Given the description of an element on the screen output the (x, y) to click on. 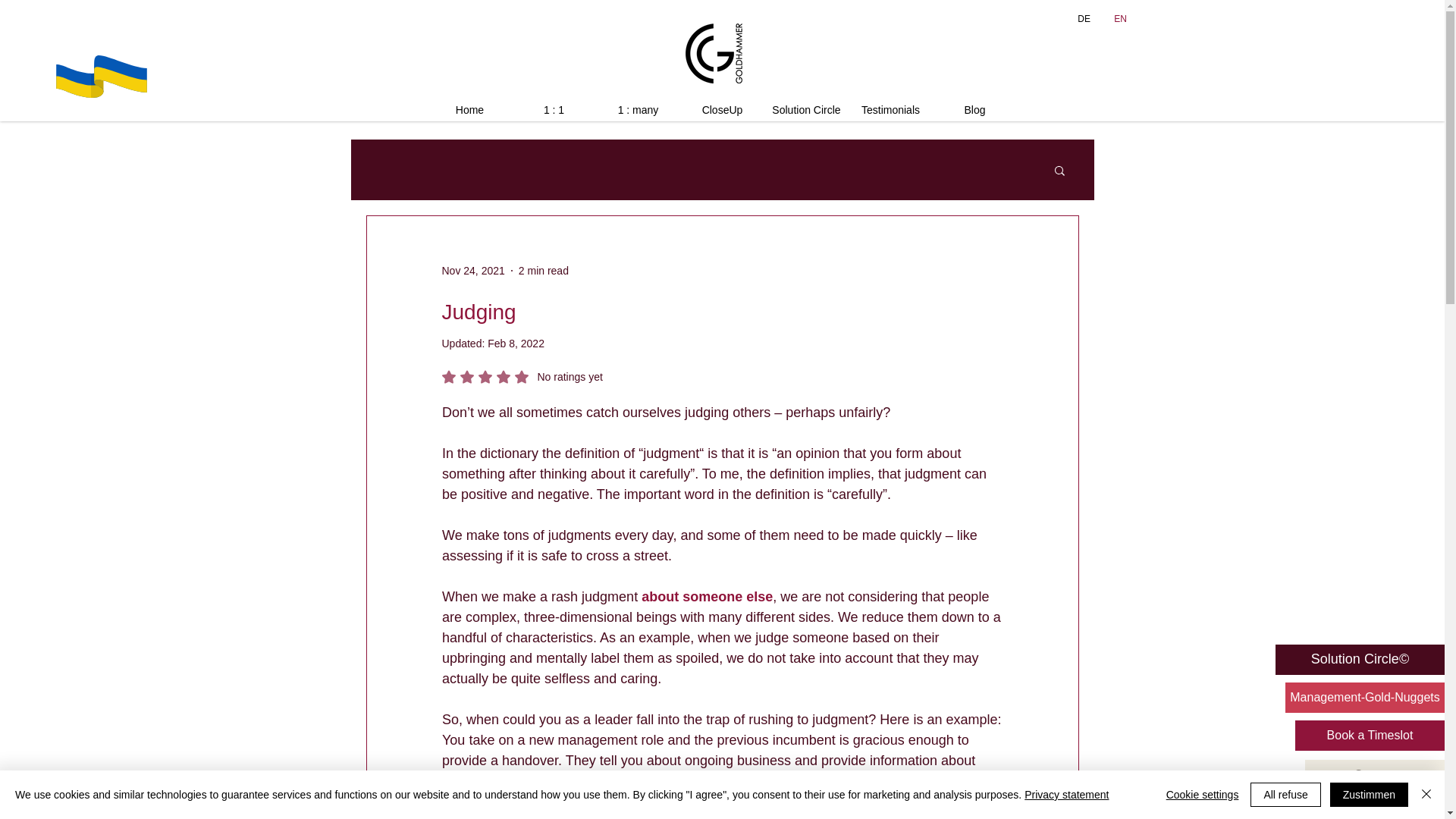
CloseUp (721, 109)
Zustimmen (521, 377)
All refuse (1368, 794)
Testimonials (1285, 794)
DE (890, 109)
Nov 24, 2021 (1082, 18)
Home (472, 269)
Privacy statement (470, 109)
2 min read (1066, 794)
